Given the description of an element on the screen output the (x, y) to click on. 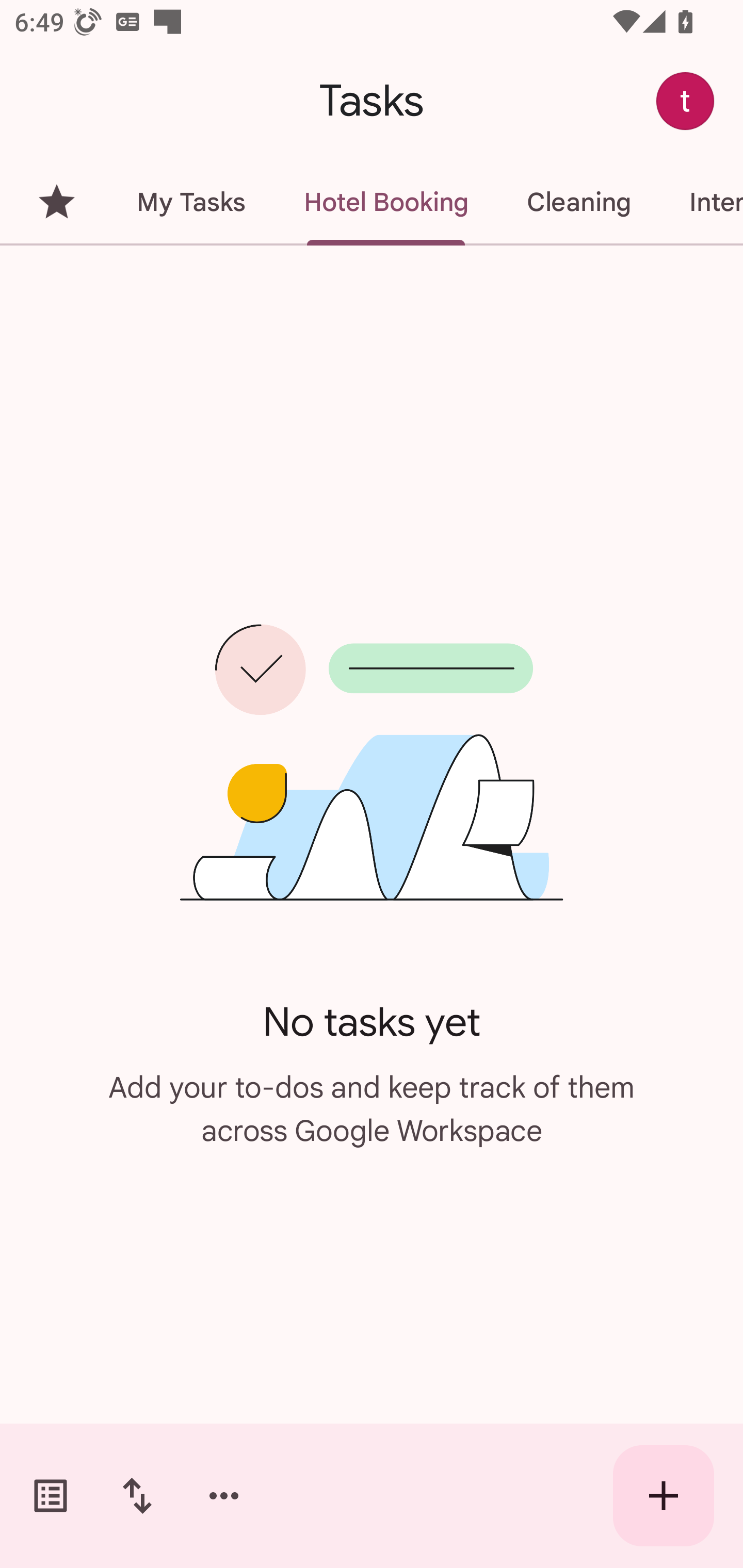
Starred (55, 202)
My Tasks (190, 202)
Cleaning (578, 202)
Interview (701, 202)
Switch task lists (50, 1495)
Create new task (663, 1495)
Change sort order (136, 1495)
More options (223, 1495)
